Given the description of an element on the screen output the (x, y) to click on. 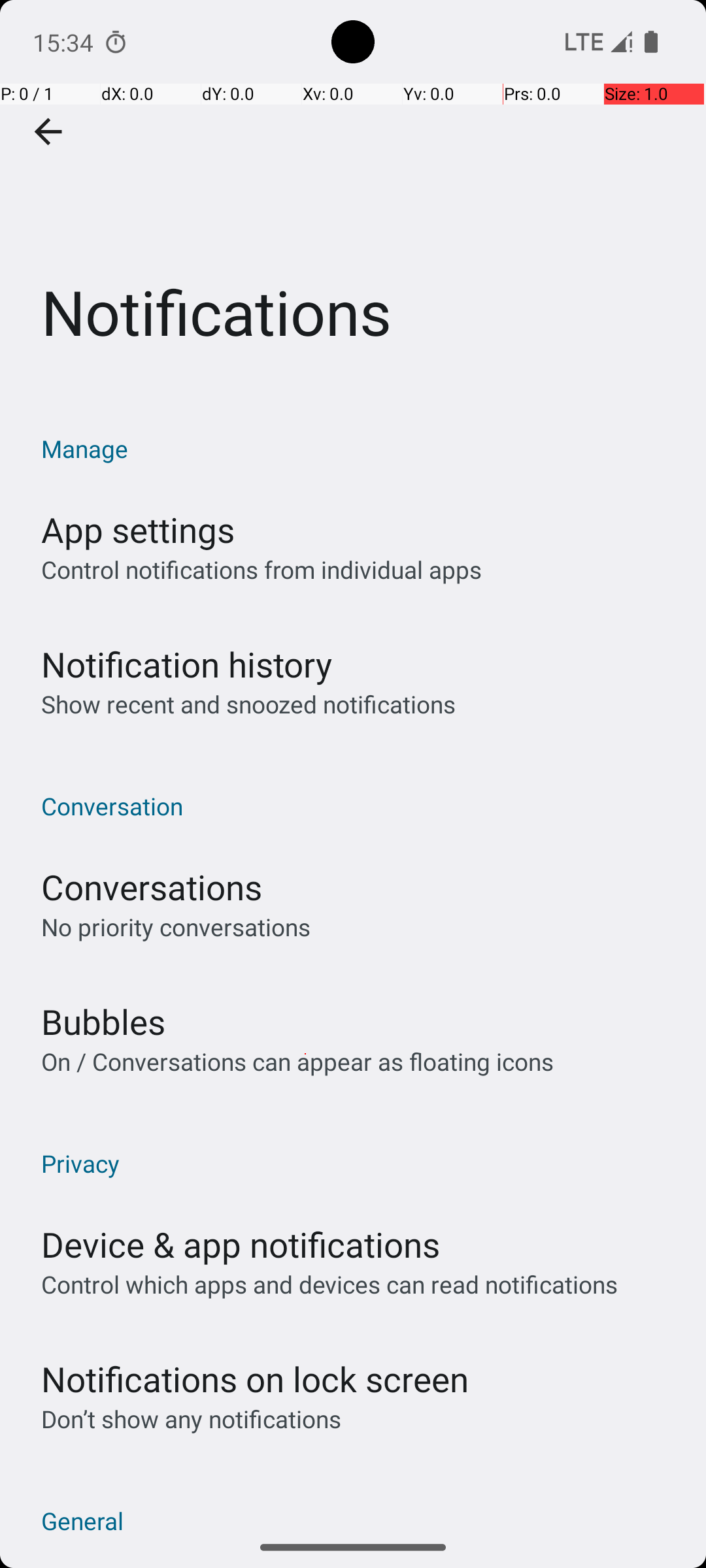
Don’t show any notifications Element type: android.widget.TextView (191, 1418)
